Given the description of an element on the screen output the (x, y) to click on. 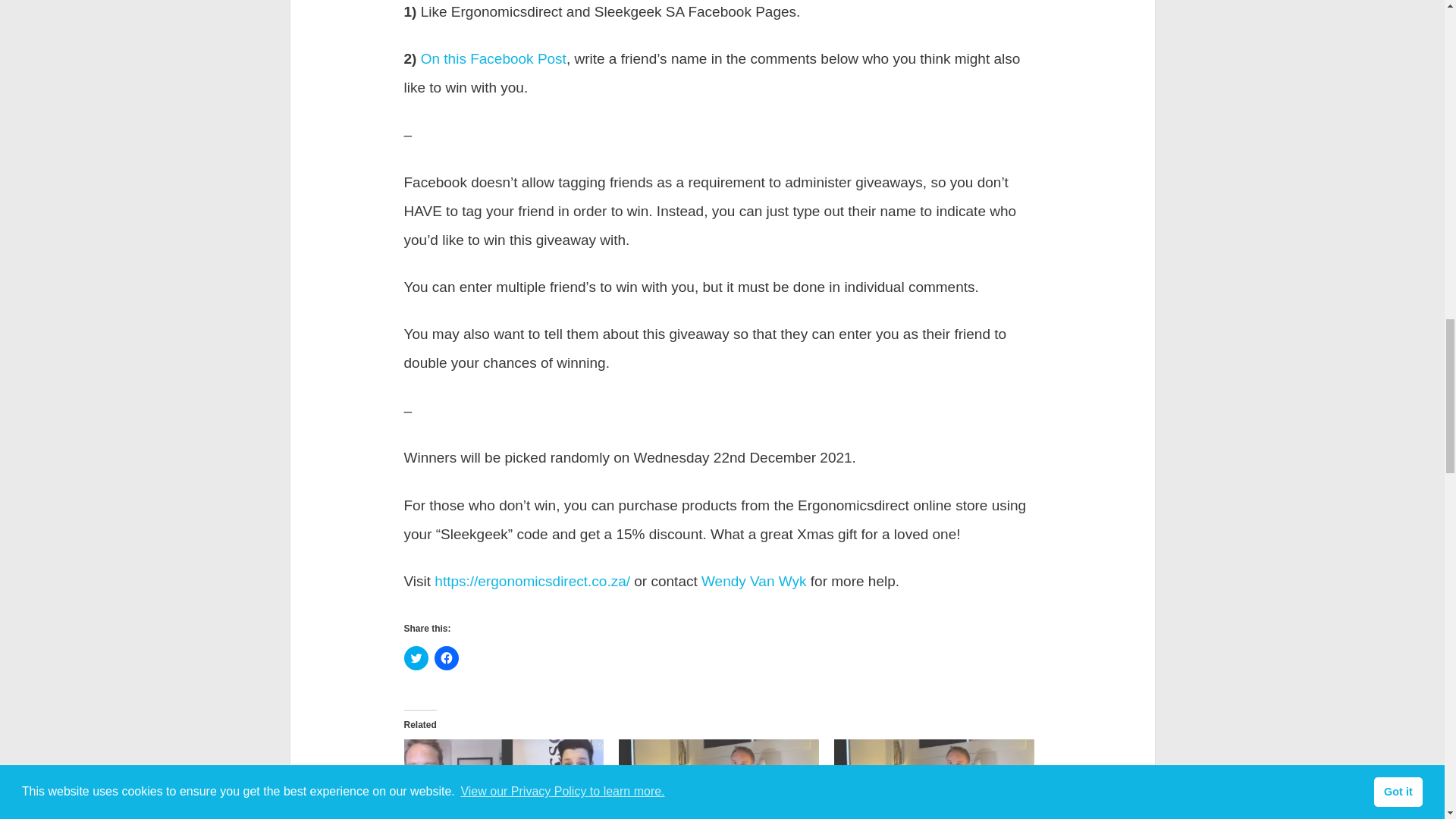
Win an Ergo Tray for you and a friend (718, 779)
How to create a healthy and productive work environment (503, 779)
Click to share on Facebook (445, 658)
Win an Ergo Tray for you and a friend (933, 779)
Click to share on Twitter (415, 658)
